Given the description of an element on the screen output the (x, y) to click on. 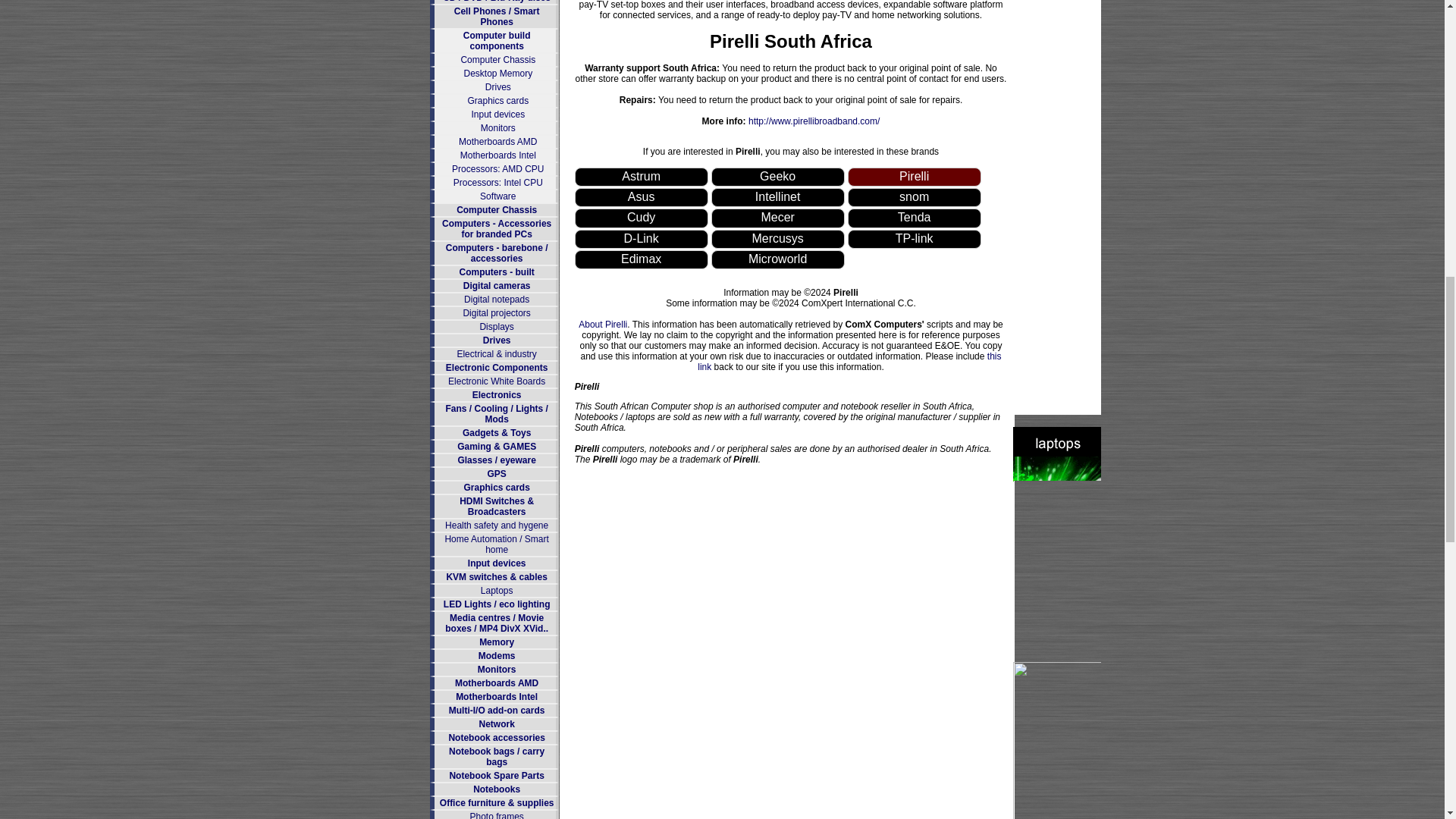
Laptops (496, 590)
Displays (496, 326)
Digital notepads (496, 299)
Digital projectors (496, 312)
Health safety and hygene (496, 525)
Photo frames (495, 815)
Electronic White Boards (496, 380)
